Given the description of an element on the screen output the (x, y) to click on. 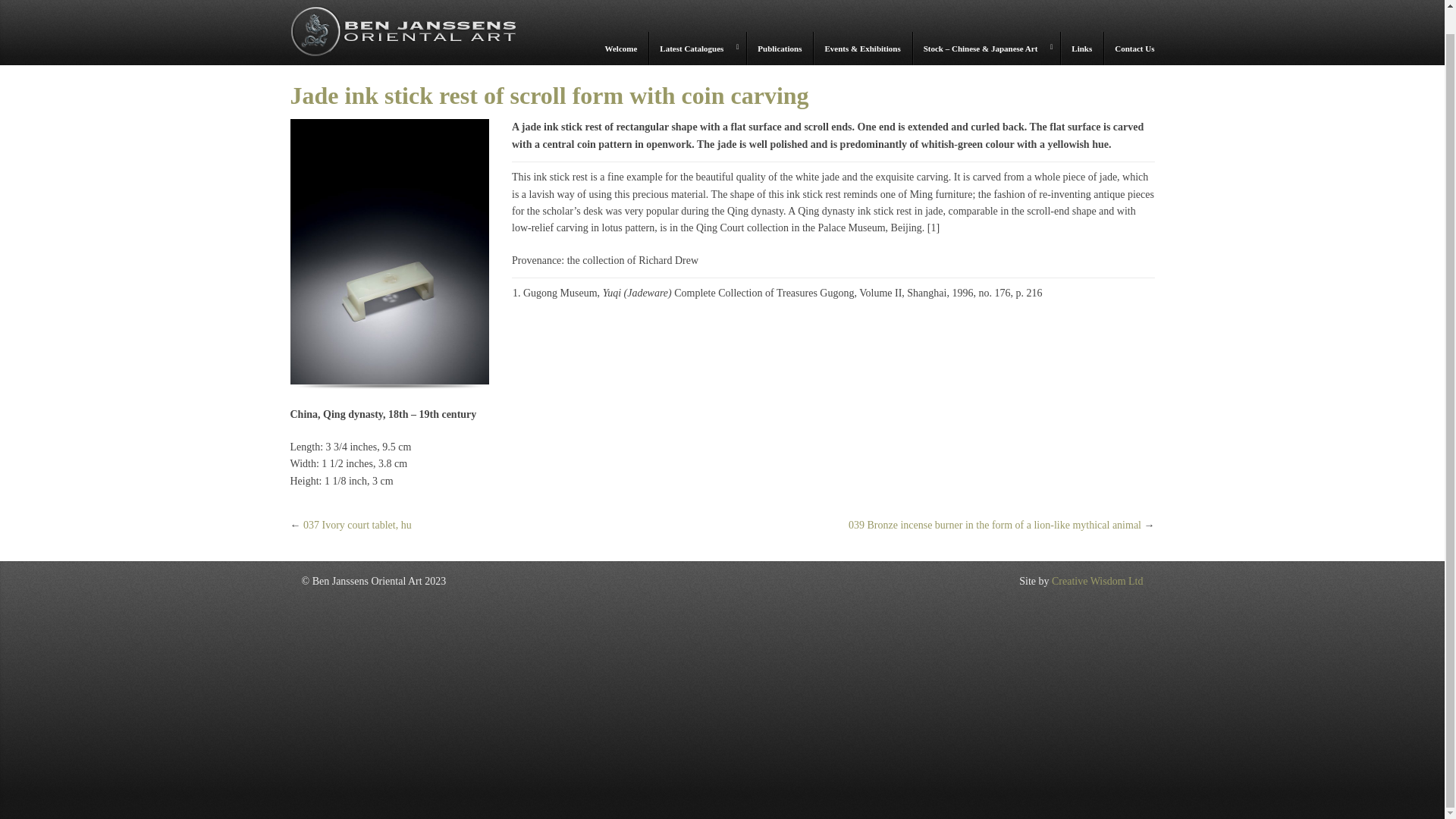
Welcome (621, 48)
Latest Catalogues (696, 48)
